Given the description of an element on the screen output the (x, y) to click on. 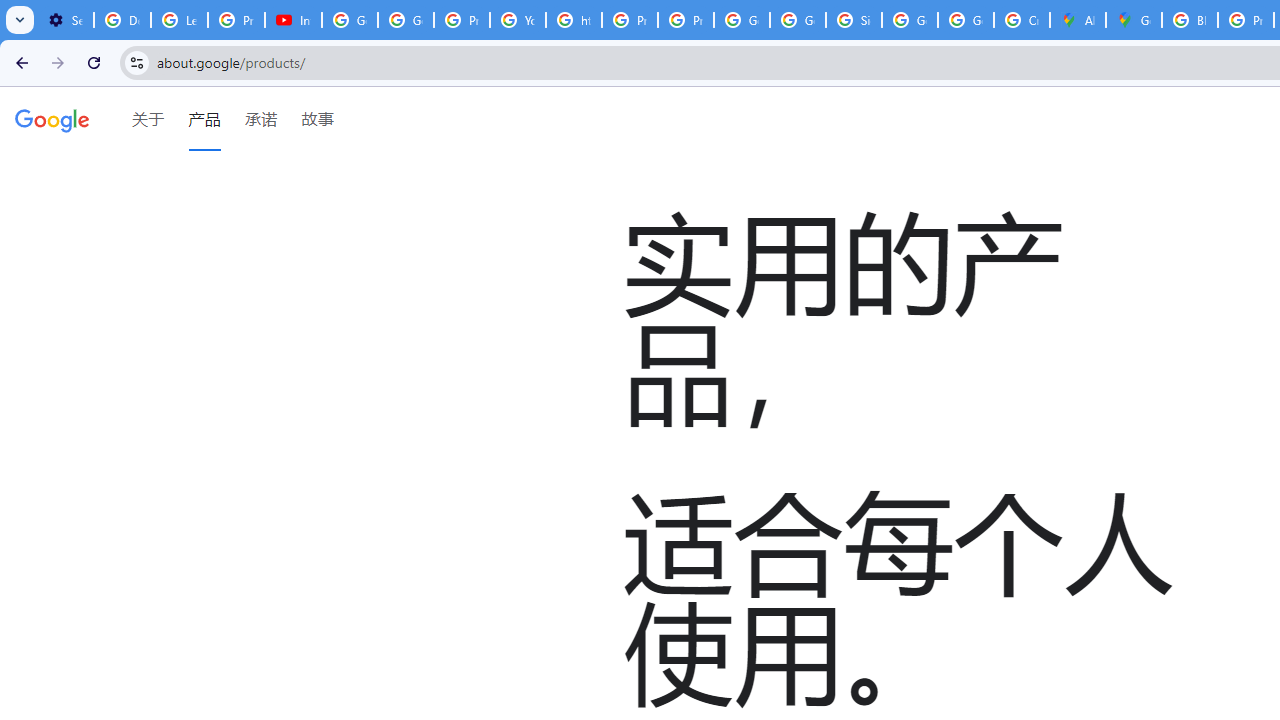
Learn how to find your photos - Google Photos Help (179, 20)
